Given the description of an element on the screen output the (x, y) to click on. 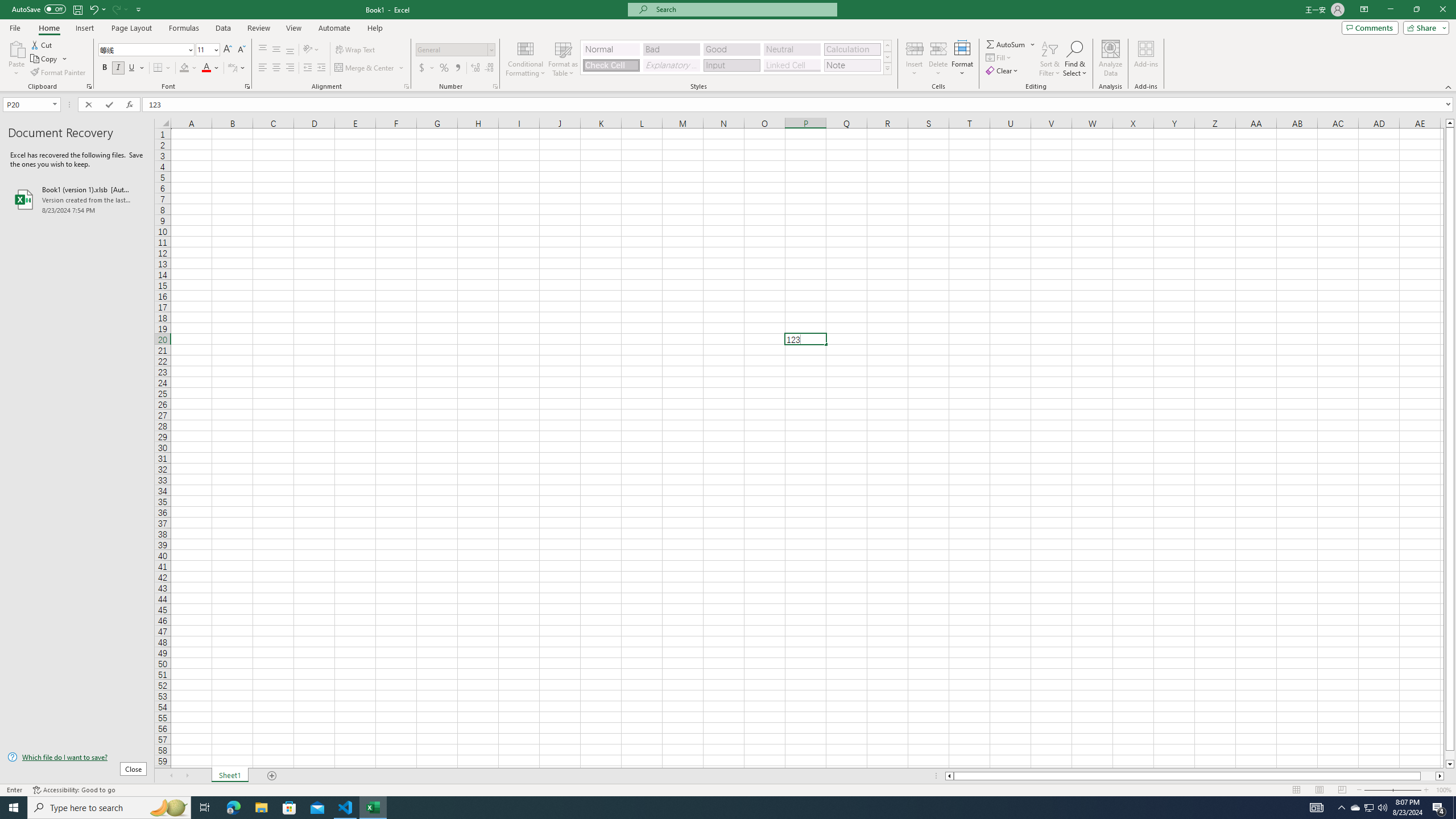
Merge & Center (365, 67)
Check Cell (611, 65)
Cell Styles (887, 68)
Delete Cells... (938, 48)
Italic (118, 67)
Note (852, 65)
Comma Style (457, 67)
